Given the description of an element on the screen output the (x, y) to click on. 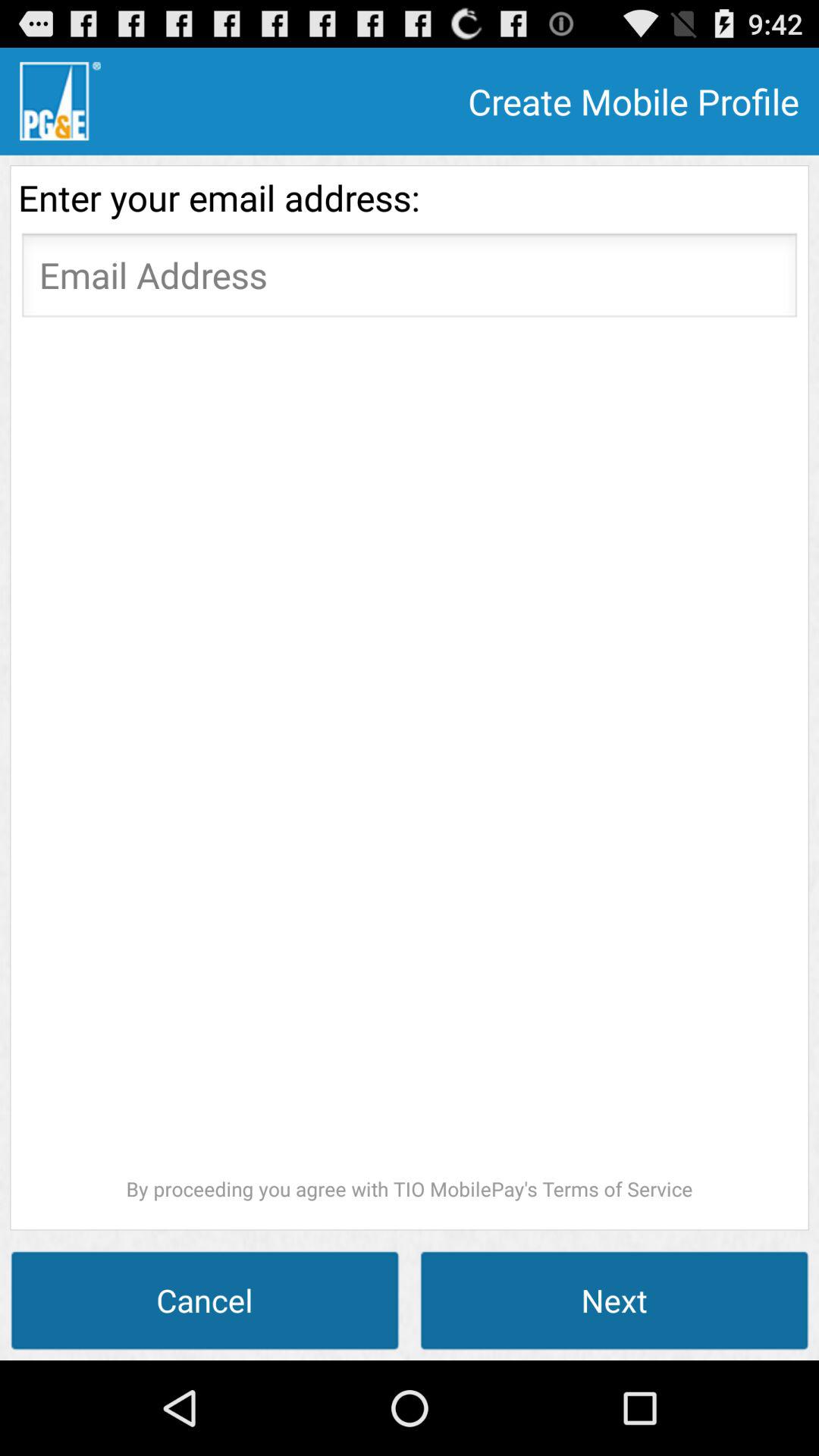
turn off icon above the cancel icon (409, 764)
